Given the description of an element on the screen output the (x, y) to click on. 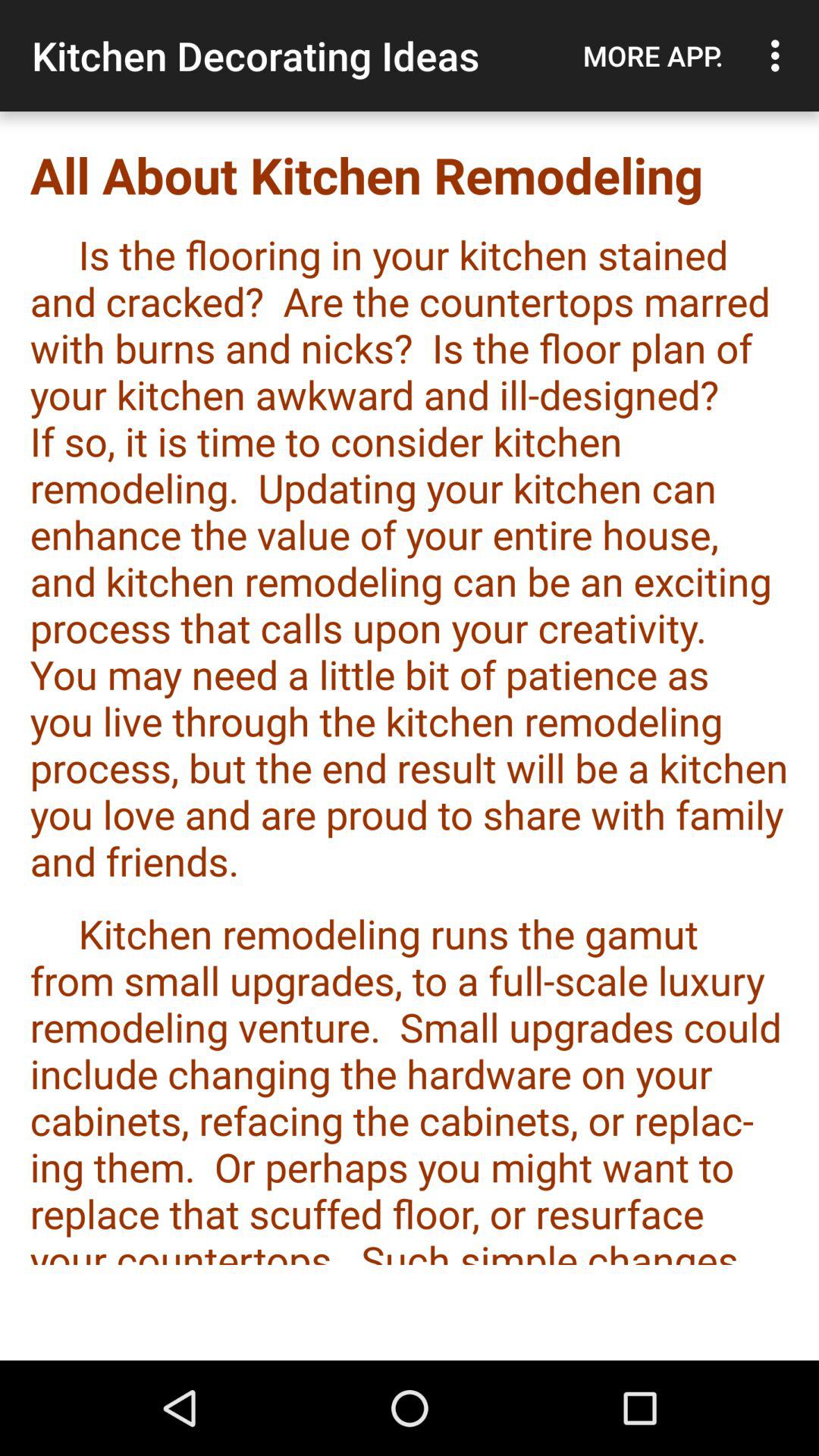
select item next to kitchen decorating ideas icon (653, 55)
